Given the description of an element on the screen output the (x, y) to click on. 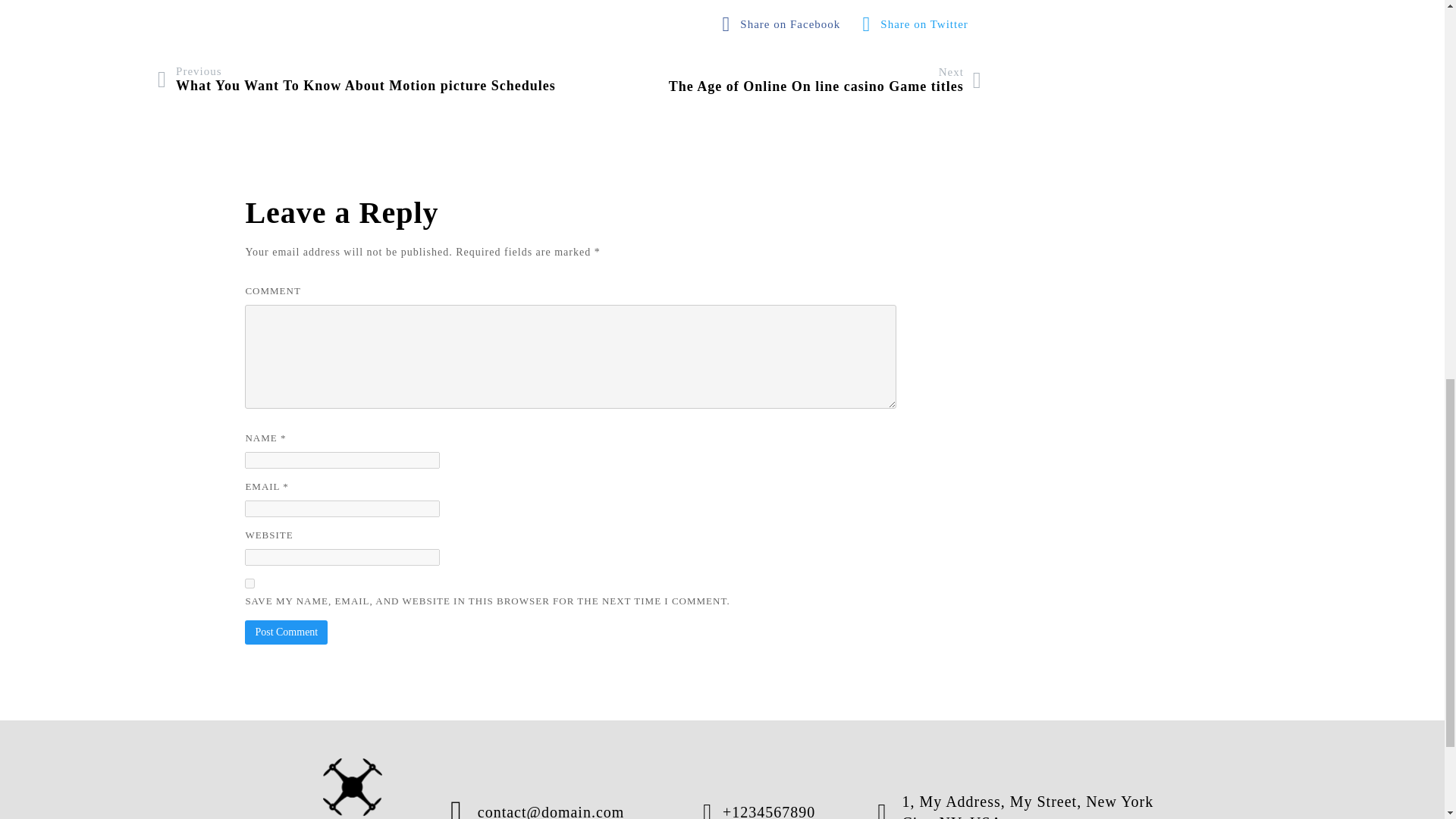
fab fa-twitter-square (920, 24)
Post Comment (285, 631)
fab fa-facebook-square (824, 80)
Share on Facebook (786, 24)
Share on Twitter (786, 24)
Post Comment (920, 24)
yes (285, 631)
SciencePodCasters (249, 583)
